Given the description of an element on the screen output the (x, y) to click on. 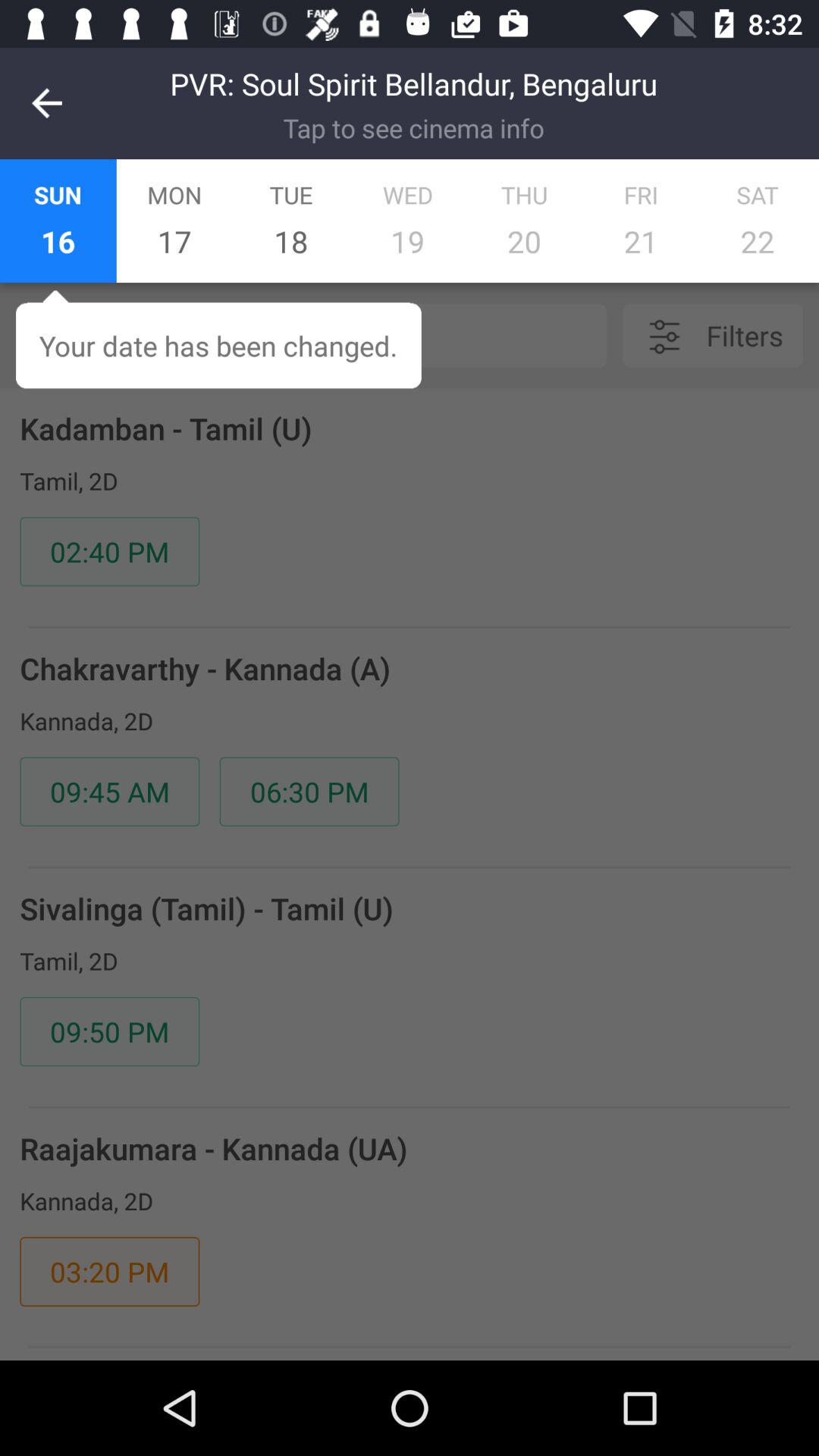
swipe to the search by movie (347, 335)
